Given the description of an element on the screen output the (x, y) to click on. 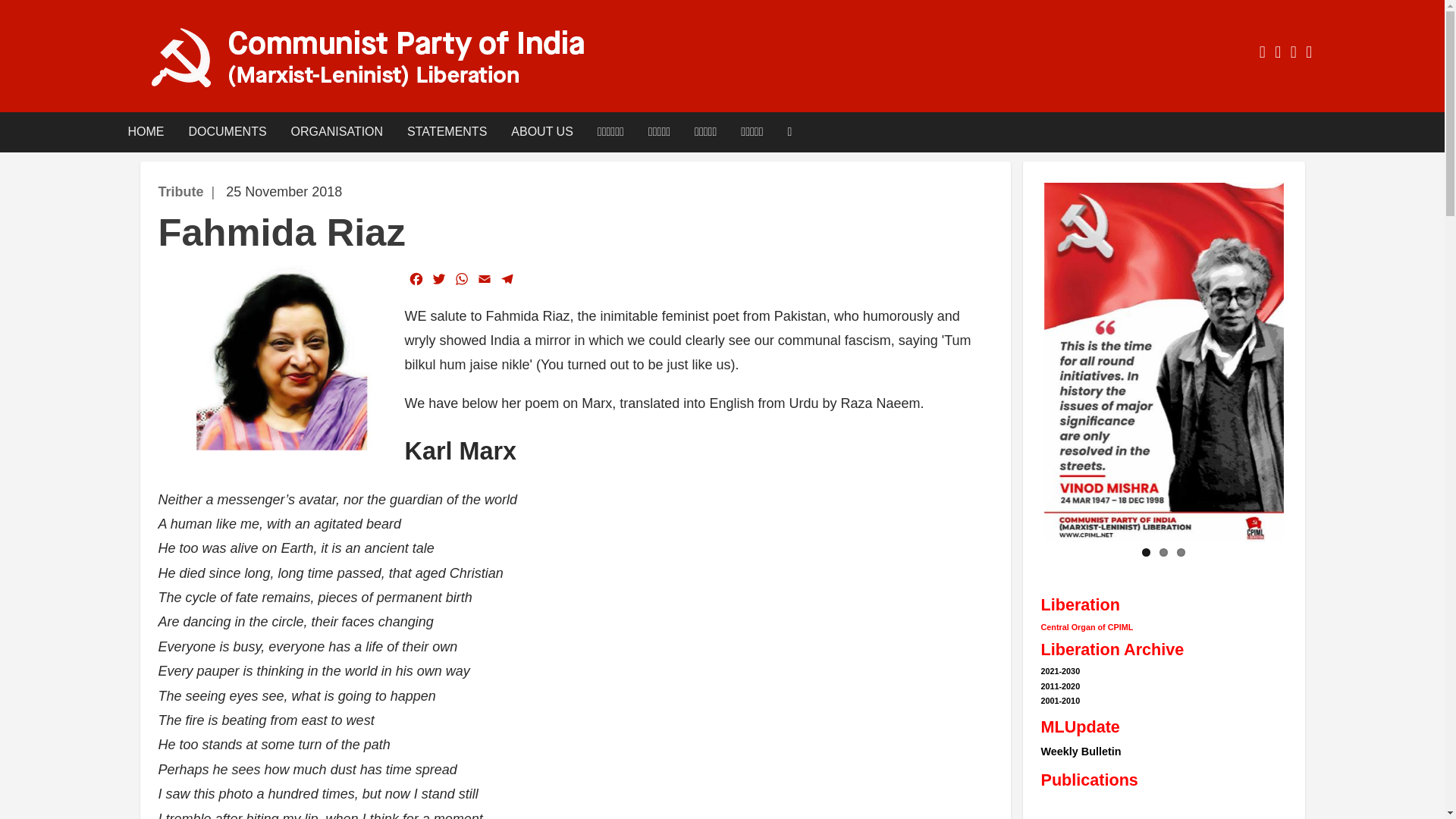
ABOUT US (542, 132)
STATEMENTS (446, 132)
Home (382, 57)
ORGANISATION (337, 132)
Tribute (180, 191)
Telegram (507, 278)
Twitter (438, 278)
WhatsApp (461, 278)
DOCUMENTS (227, 132)
